Given the description of an element on the screen output the (x, y) to click on. 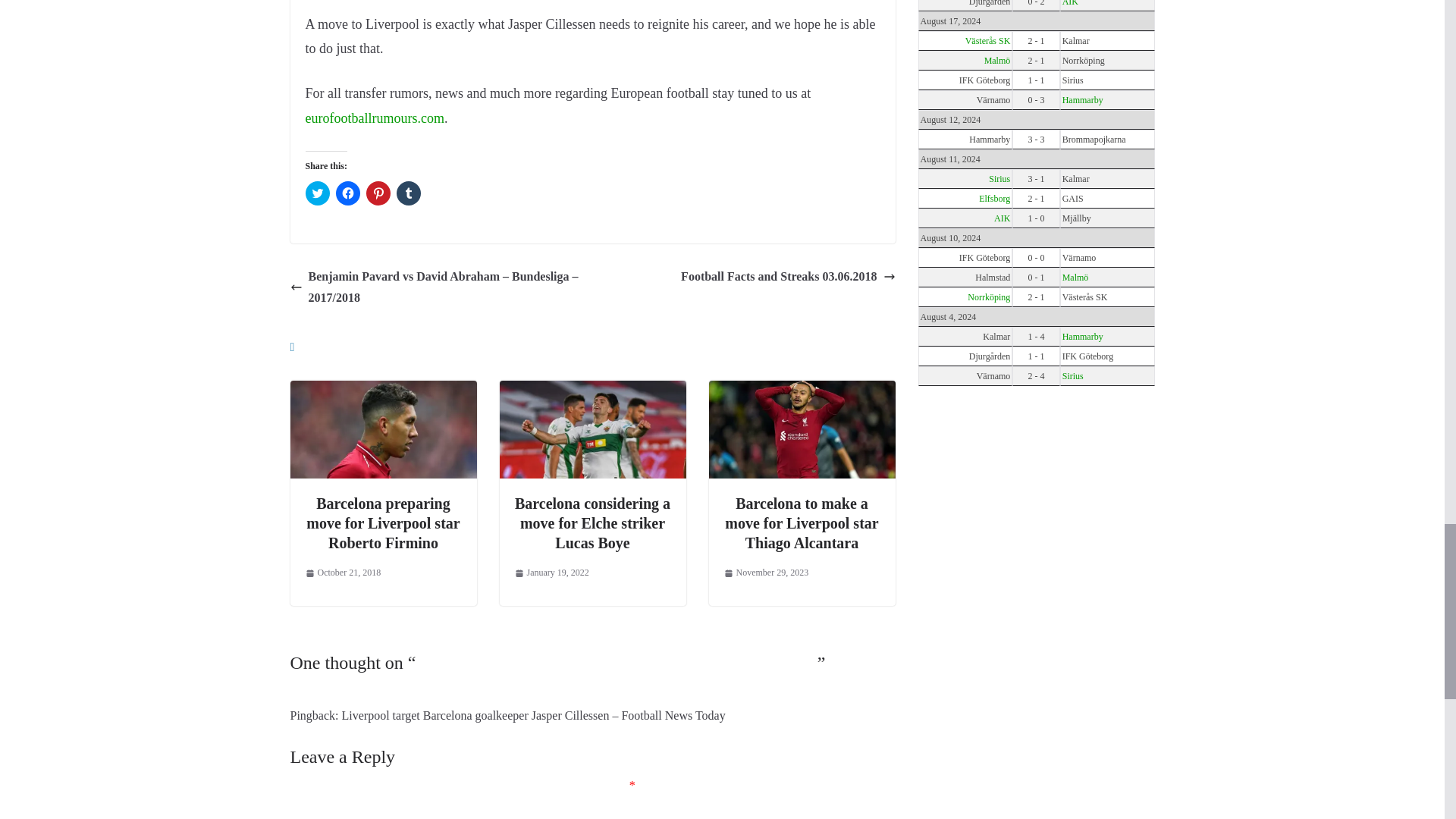
Click to share on Twitter (316, 192)
Click to share on Facebook (346, 192)
Barcelona preparing move for Liverpool star Roberto Firmino (382, 390)
Barcelona considering a move for Elche striker Lucas Boye (592, 390)
8:24 am (550, 573)
Barcelona considering a move for Elche striker Lucas Boye (592, 523)
Click to share on Tumblr (408, 192)
Click to share on Pinterest (377, 192)
Barcelona preparing move for Liverpool star Roberto Firmino (382, 523)
7:24 am (342, 573)
